Given the description of an element on the screen output the (x, y) to click on. 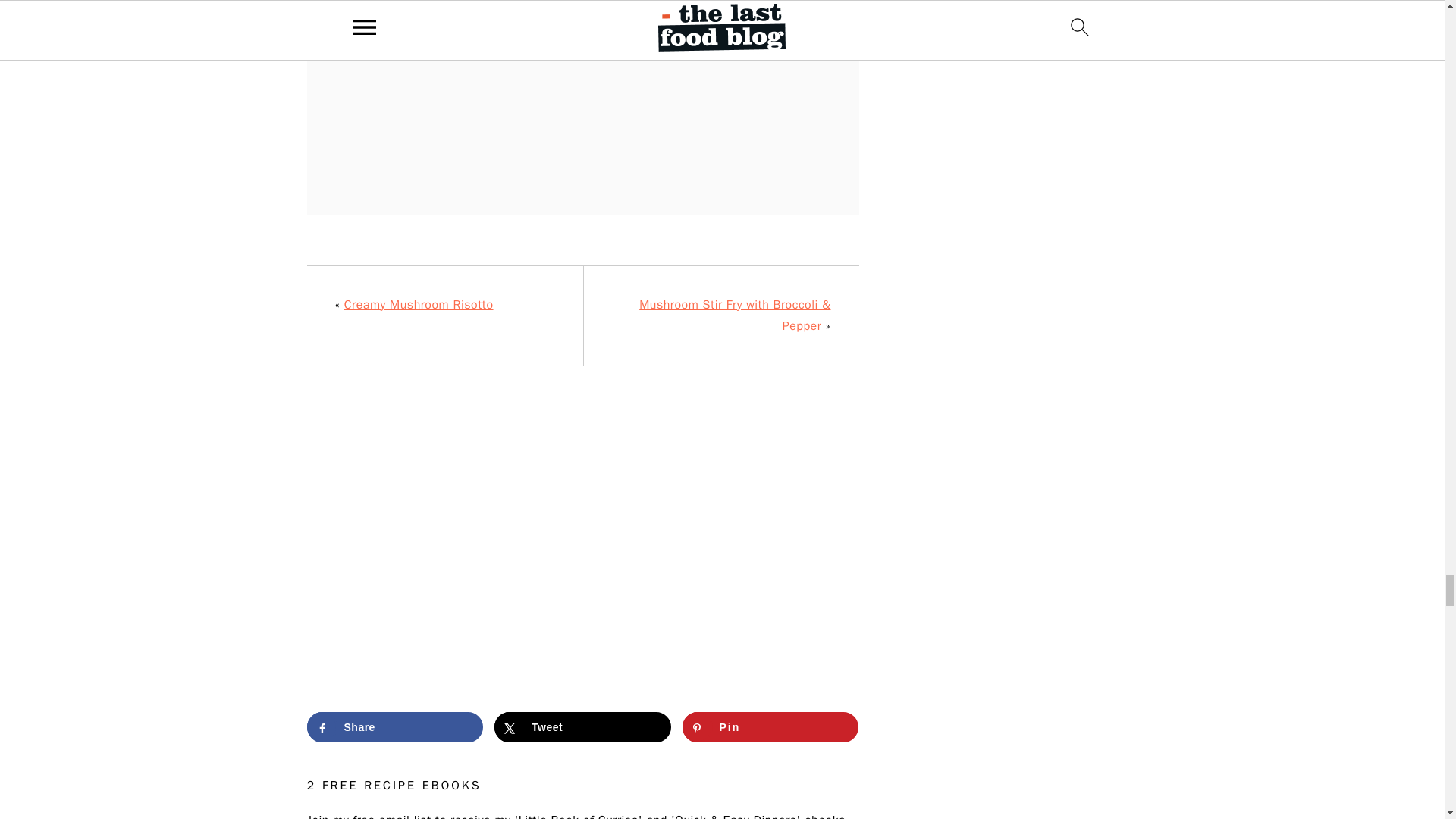
Share on X (583, 726)
Save to Pinterest (770, 726)
Share on Facebook (394, 726)
